Given the description of an element on the screen output the (x, y) to click on. 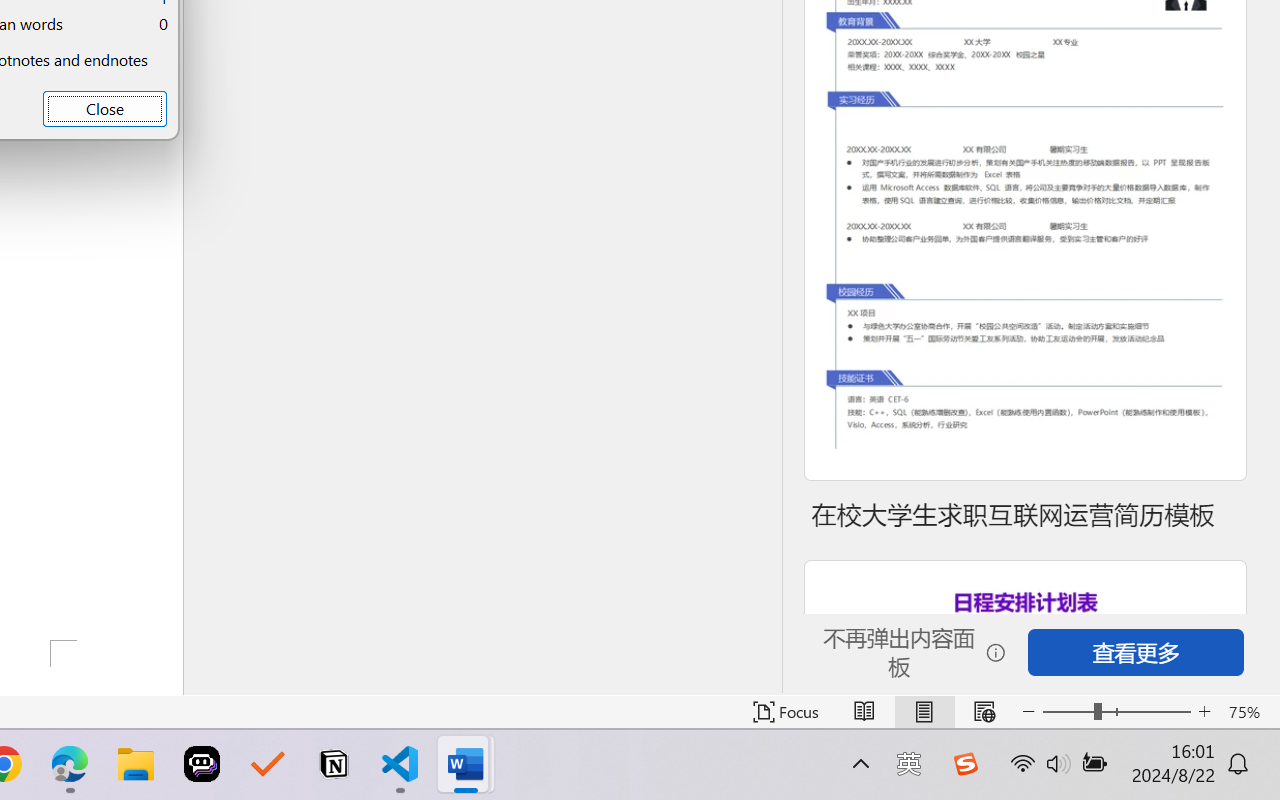
Poe (201, 764)
Read Mode (864, 712)
Class: Image (965, 764)
Zoom In (1204, 712)
Focus  (786, 712)
Notion (333, 764)
Web Layout (984, 712)
